Given the description of an element on the screen output the (x, y) to click on. 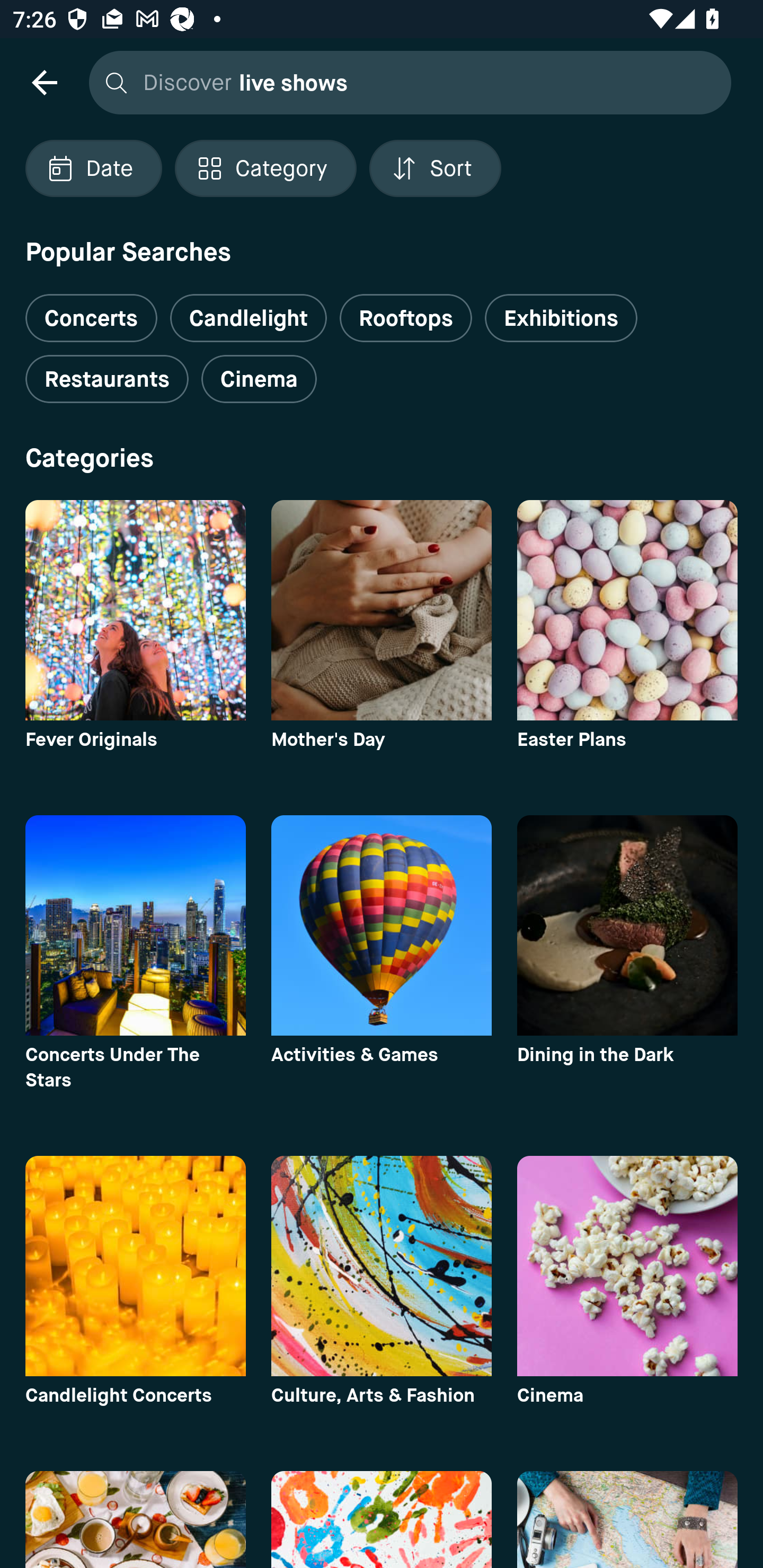
navigation icon (44, 81)
Discover live shows (405, 81)
Localized description Date (93, 168)
Localized description Category (265, 168)
Localized description Sort (435, 168)
Concerts (91, 310)
Candlelight (248, 317)
Rooftops (405, 317)
Exhibitions (560, 317)
Restaurants (106, 379)
Cinema (258, 379)
category image (135, 609)
category image (381, 609)
category image (627, 609)
category image (135, 924)
category image (381, 924)
category image (627, 924)
category image (135, 1265)
category image (381, 1265)
category image (627, 1265)
